Given the description of an element on the screen output the (x, y) to click on. 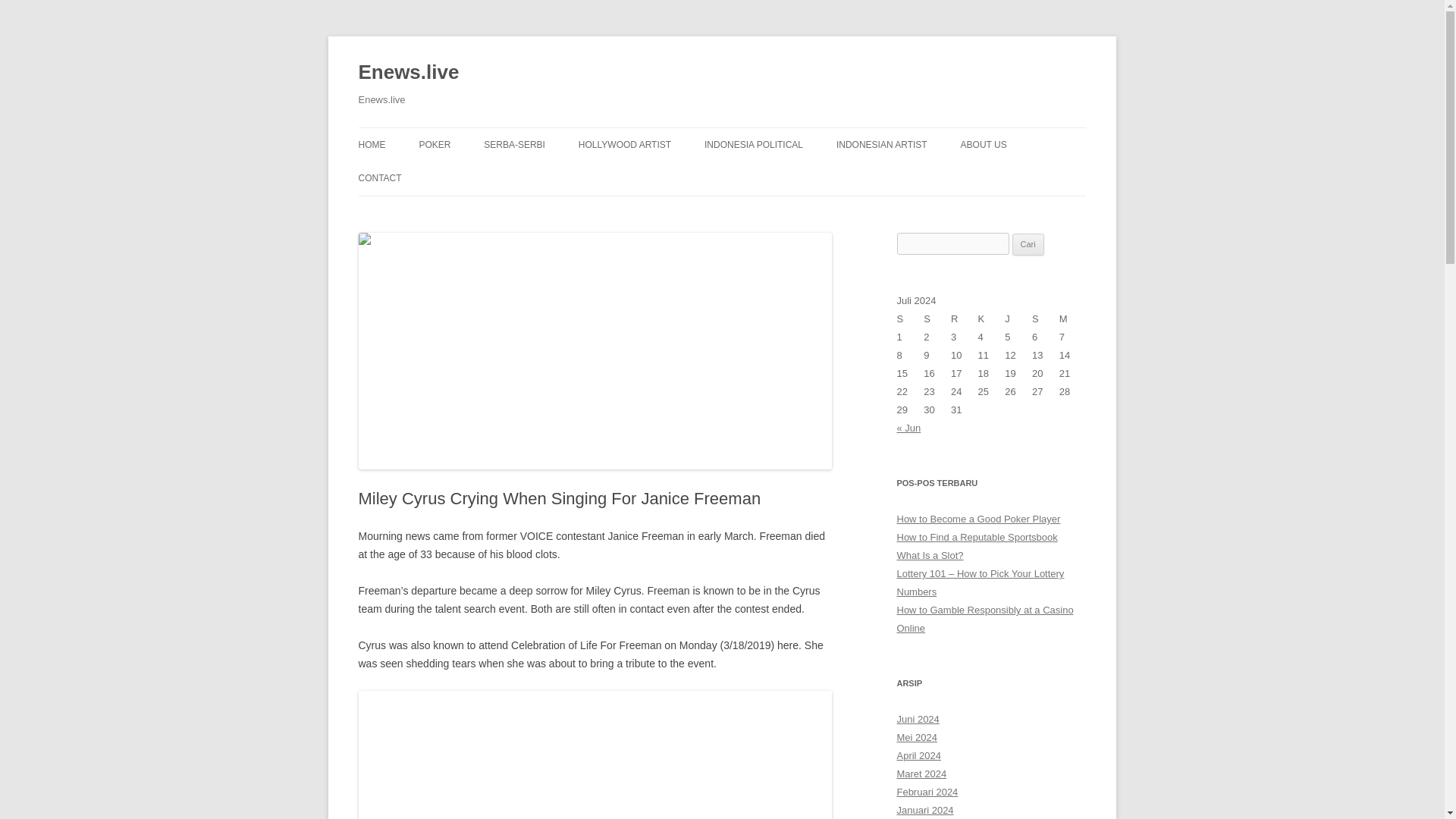
INDONESIAN ARTIST (881, 144)
Juni 2024 (917, 718)
INDONESIA POLITICAL (753, 144)
Maret 2024 (921, 773)
Enews.live (408, 72)
Cari (1027, 244)
What Is a Slot? (929, 555)
How to Find a Reputable Sportsbook (976, 536)
POKER (434, 144)
How to Become a Good Poker Player (977, 518)
CONTACT (379, 177)
Januari 2024 (924, 809)
Jumat (1018, 319)
Senin (909, 319)
Mei 2024 (916, 737)
